Given the description of an element on the screen output the (x, y) to click on. 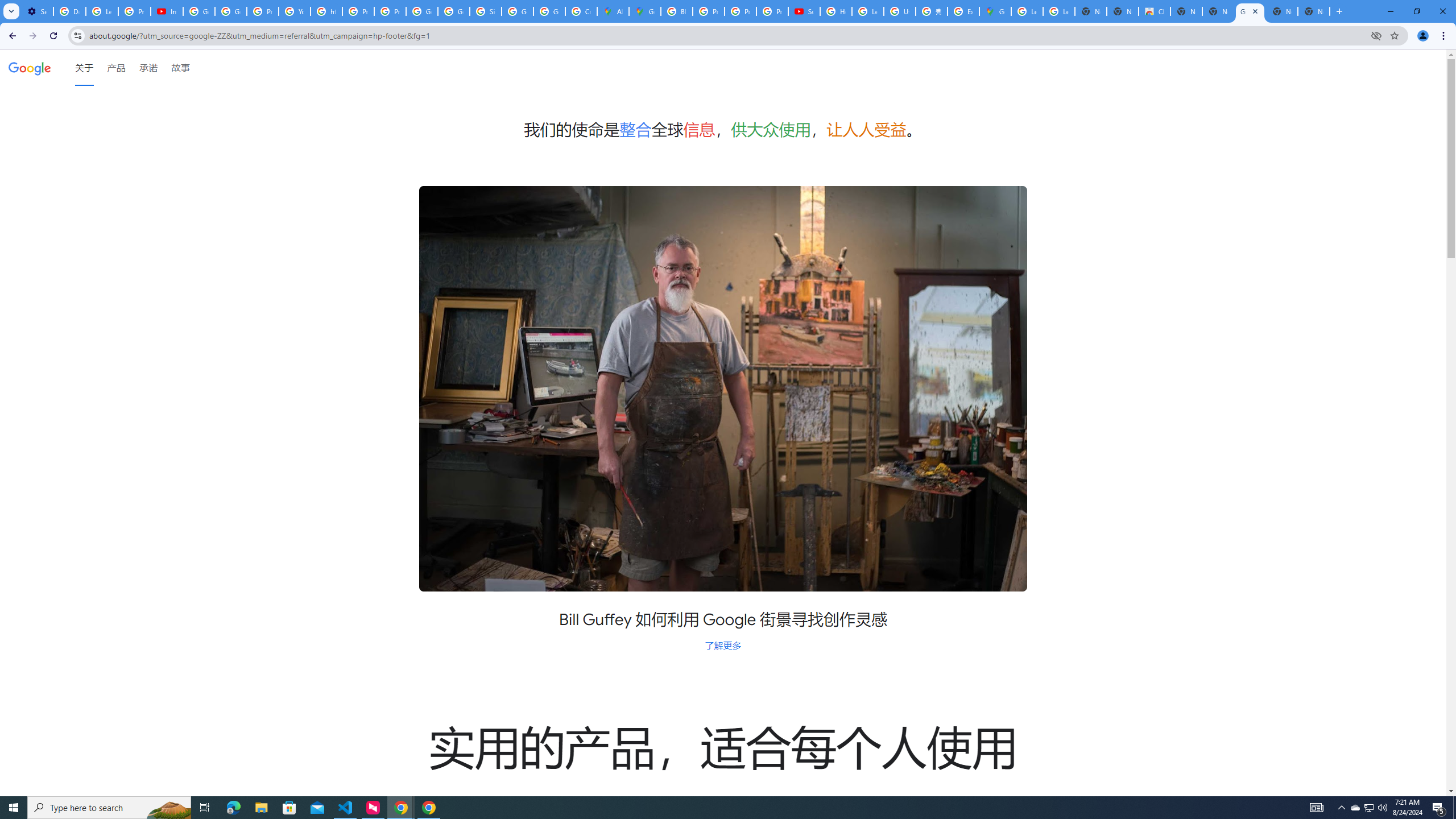
Delete photos & videos - Computer - Google Photos Help (69, 11)
Explore new street-level details - Google Maps Help (963, 11)
Privacy Help Center - Policies Help (358, 11)
